Given the description of an element on the screen output the (x, y) to click on. 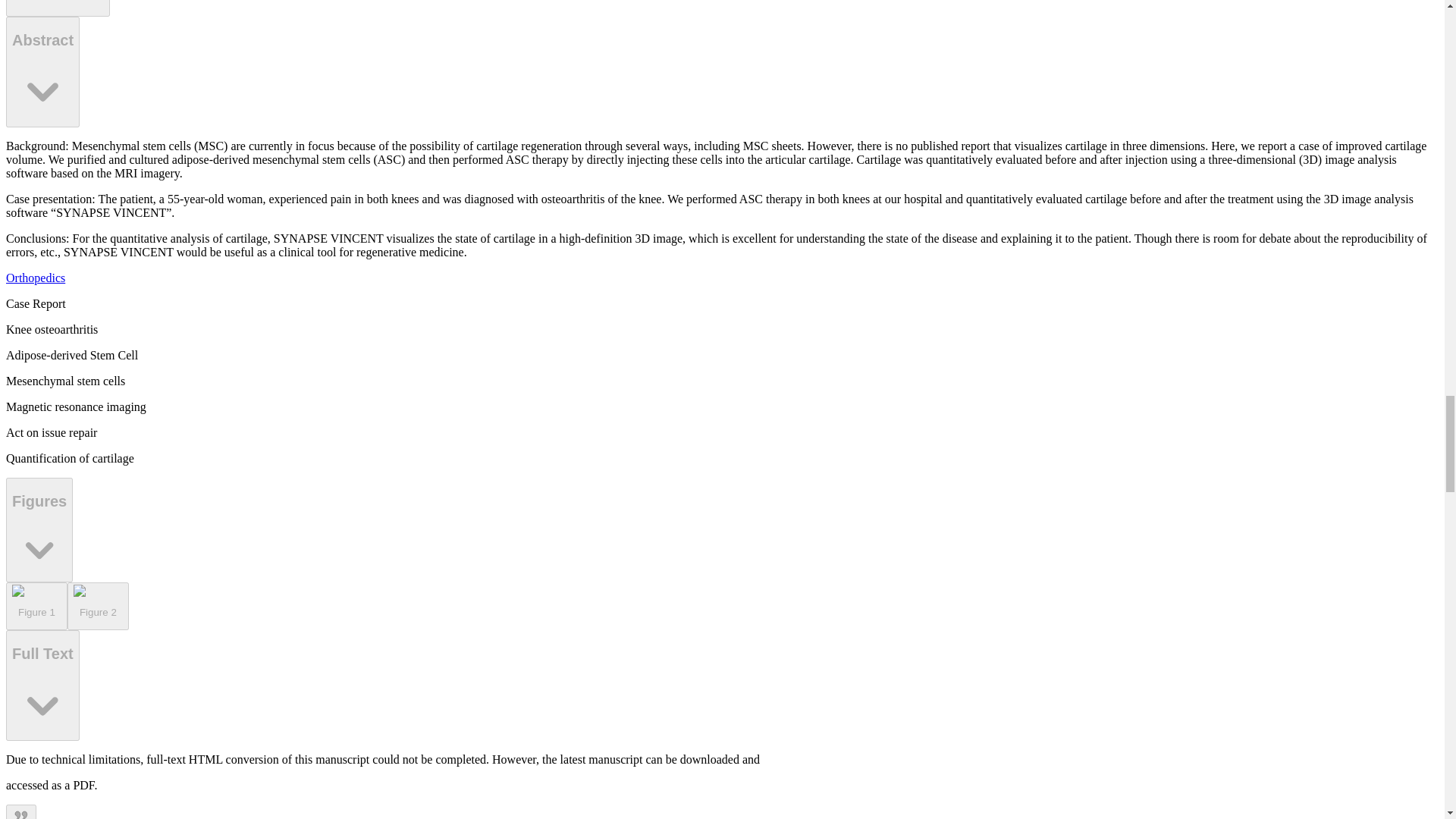
Show more versions (57, 8)
Cite (20, 811)
Figure 2 (97, 606)
Orthopedics (35, 277)
Figure 1 (35, 606)
